Given the description of an element on the screen output the (x, y) to click on. 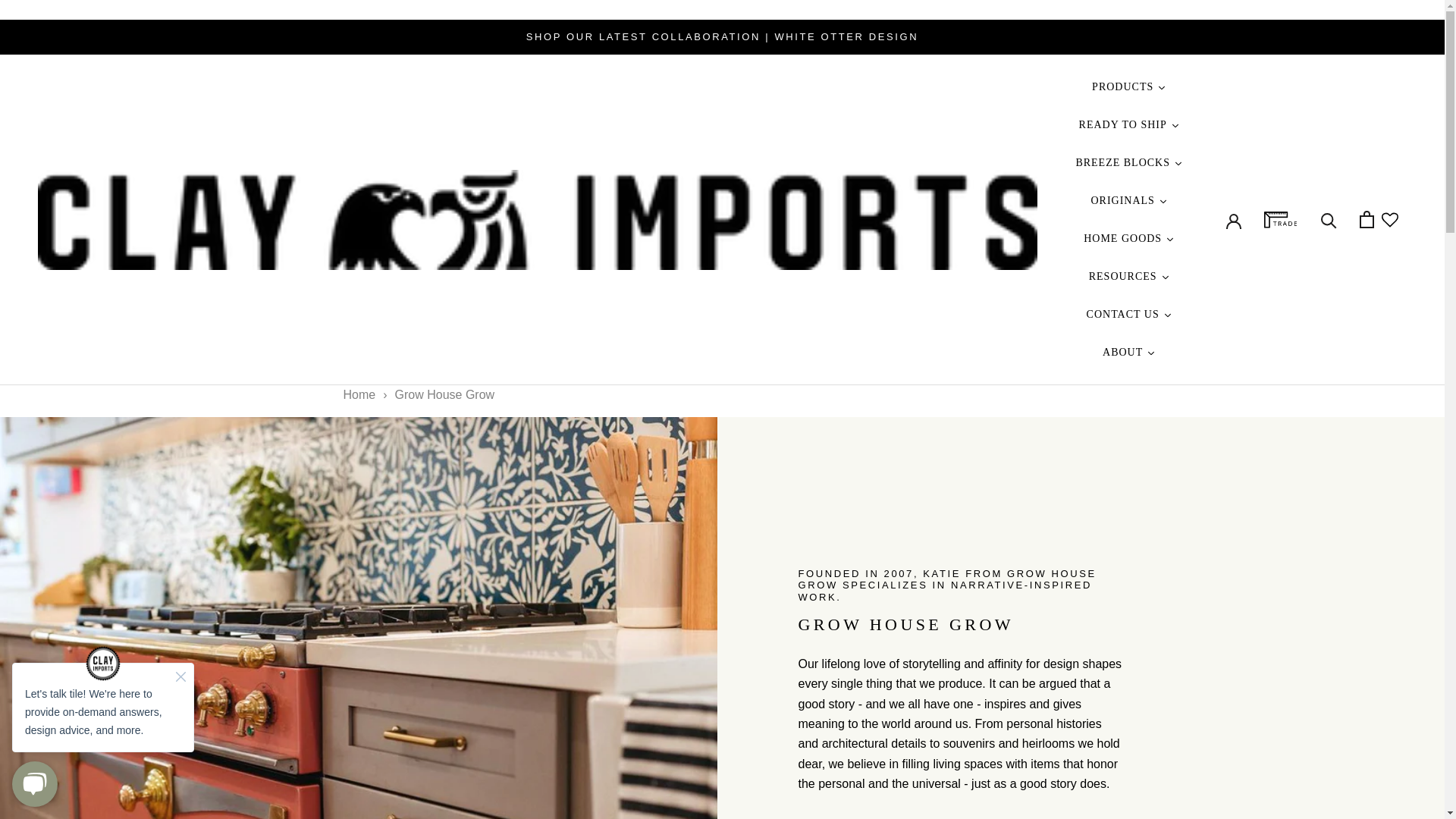
HOME GOODS (1128, 238)
ORIGINALS (1128, 200)
PRODUCTS (1128, 86)
BREEZE BLOCKS (1128, 162)
ABOUT (1128, 352)
RESOURCES (1129, 276)
CONTACT US (1128, 314)
READY TO SHIP (1129, 125)
